Given the description of an element on the screen output the (x, y) to click on. 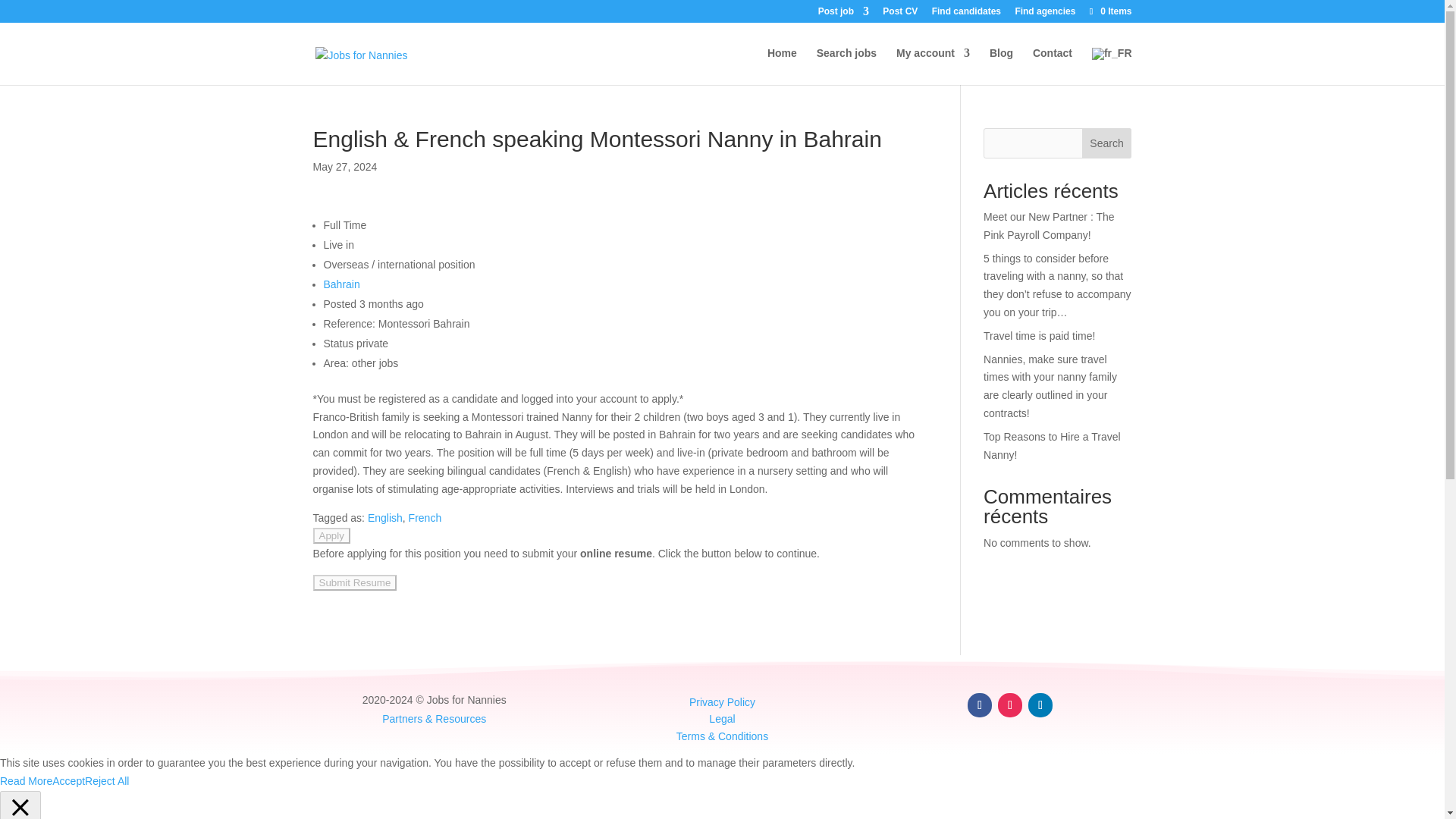
Top Reasons to Hire a Travel Nanny! (1052, 445)
Submit Resume (354, 582)
Contact (1051, 65)
Follow on Facebook (979, 704)
English (385, 517)
Follow on Instagram (1009, 704)
Submit Resume (354, 582)
0 Items (1108, 10)
Travel time is paid time! (1039, 336)
Reject All (106, 780)
